Given the description of an element on the screen output the (x, y) to click on. 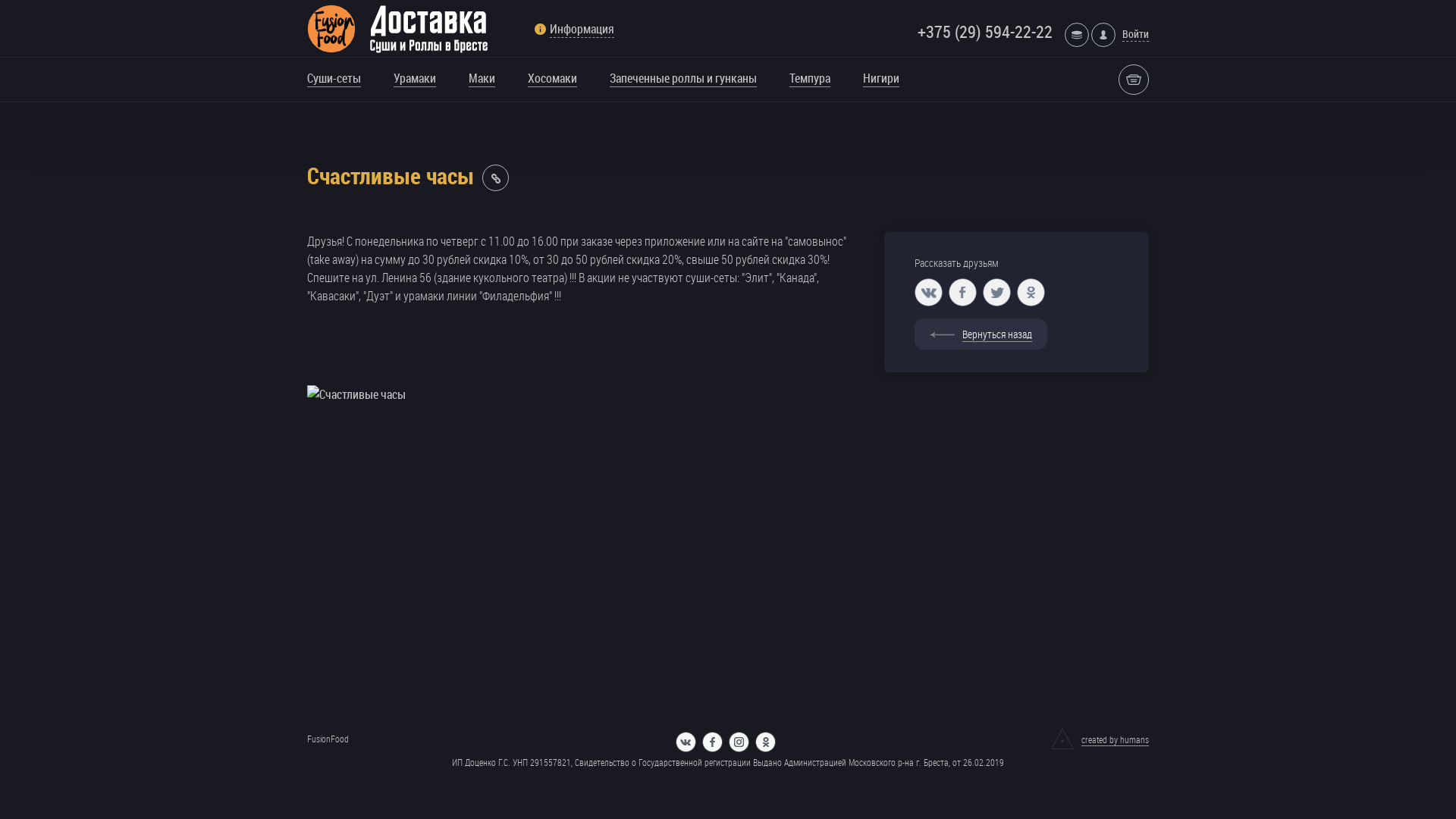
created by humans Element type: text (1099, 739)
